Given the description of an element on the screen output the (x, y) to click on. 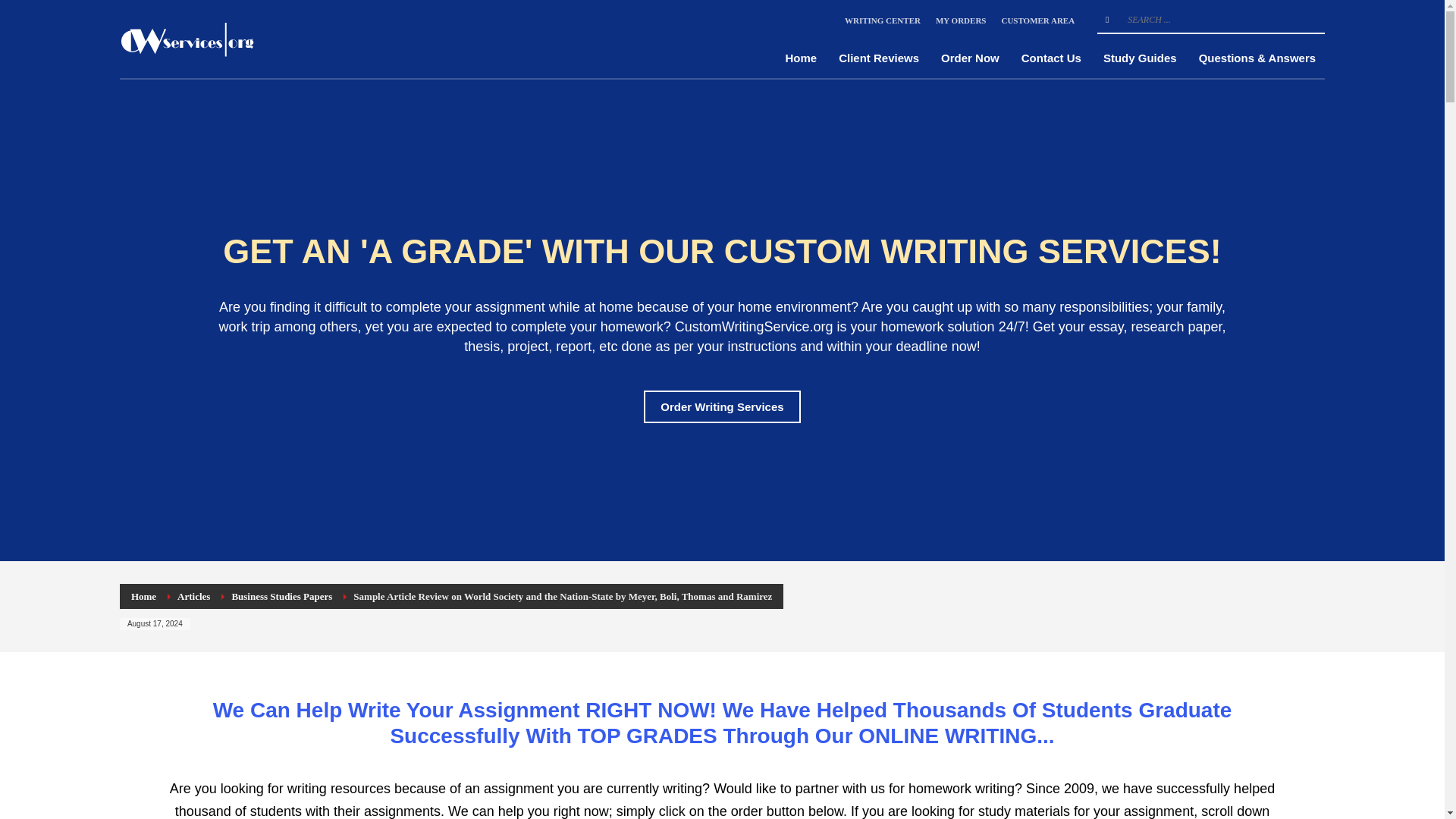
Homework Help (187, 37)
Articles (193, 595)
Click me (721, 406)
Home (801, 57)
Order Writing Services (721, 406)
Contact Us (1050, 57)
WRITING CENTER (882, 20)
CUSTOMER AREA (1037, 20)
Home (143, 595)
MY ORDERS (961, 20)
